Given the description of an element on the screen output the (x, y) to click on. 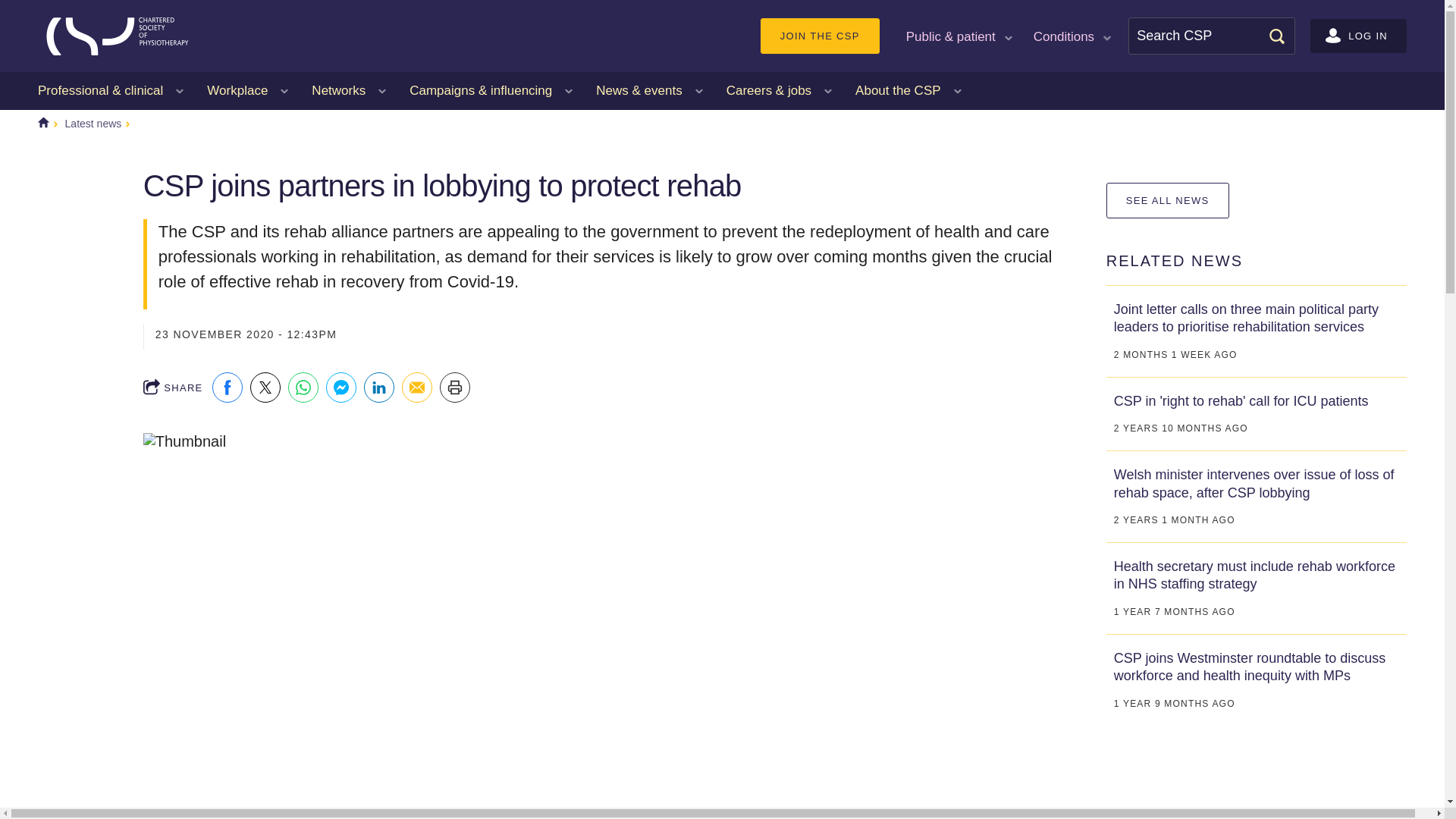
WhatsApp (303, 387)
Email (416, 387)
Search (1276, 35)
Conditions (1071, 35)
Enter the terms you wish to search for. (1211, 35)
Linkedin (379, 387)
Facebook (227, 387)
LOG IN (1358, 35)
JOIN THE CSP (819, 36)
Facebook messenger (341, 387)
